Given the description of an element on the screen output the (x, y) to click on. 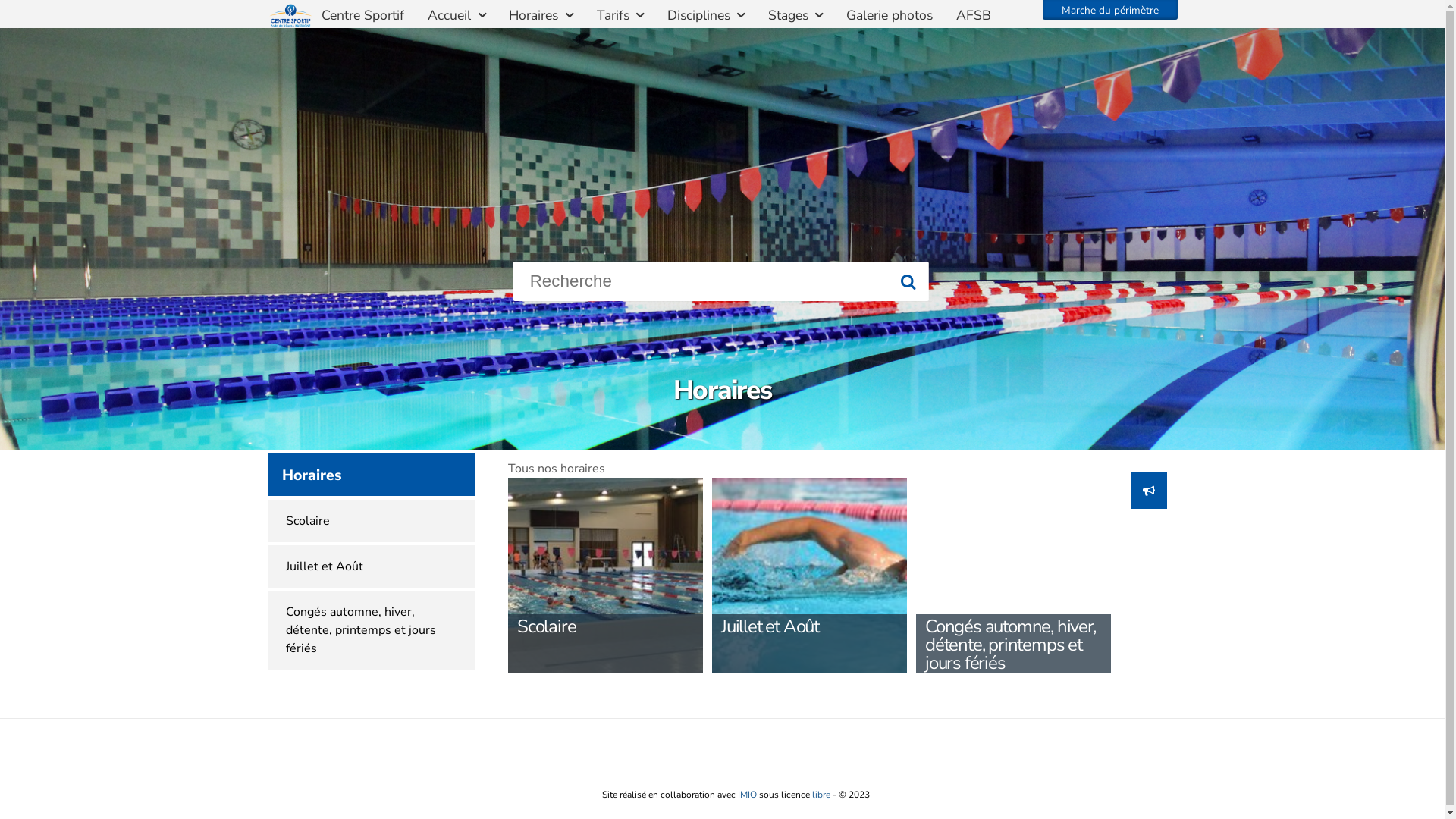
Rechercher Element type: text (910, 284)
Accueil Element type: text (458, 14)
IMIO Element type: text (746, 794)
Disciplines Element type: text (707, 14)
Horaires Element type: text (542, 14)
Recherche Element type: hover (720, 280)
Horaires Element type: text (369, 474)
AFSB Element type: text (975, 14)
Galerie photos Element type: text (890, 14)
Tarifs Element type: text (621, 14)
Scolaire Element type: text (369, 520)
libre Element type: text (821, 794)
Stages Element type: text (797, 14)
Centre Sportif Element type: text (364, 14)
